Given the description of an element on the screen output the (x, y) to click on. 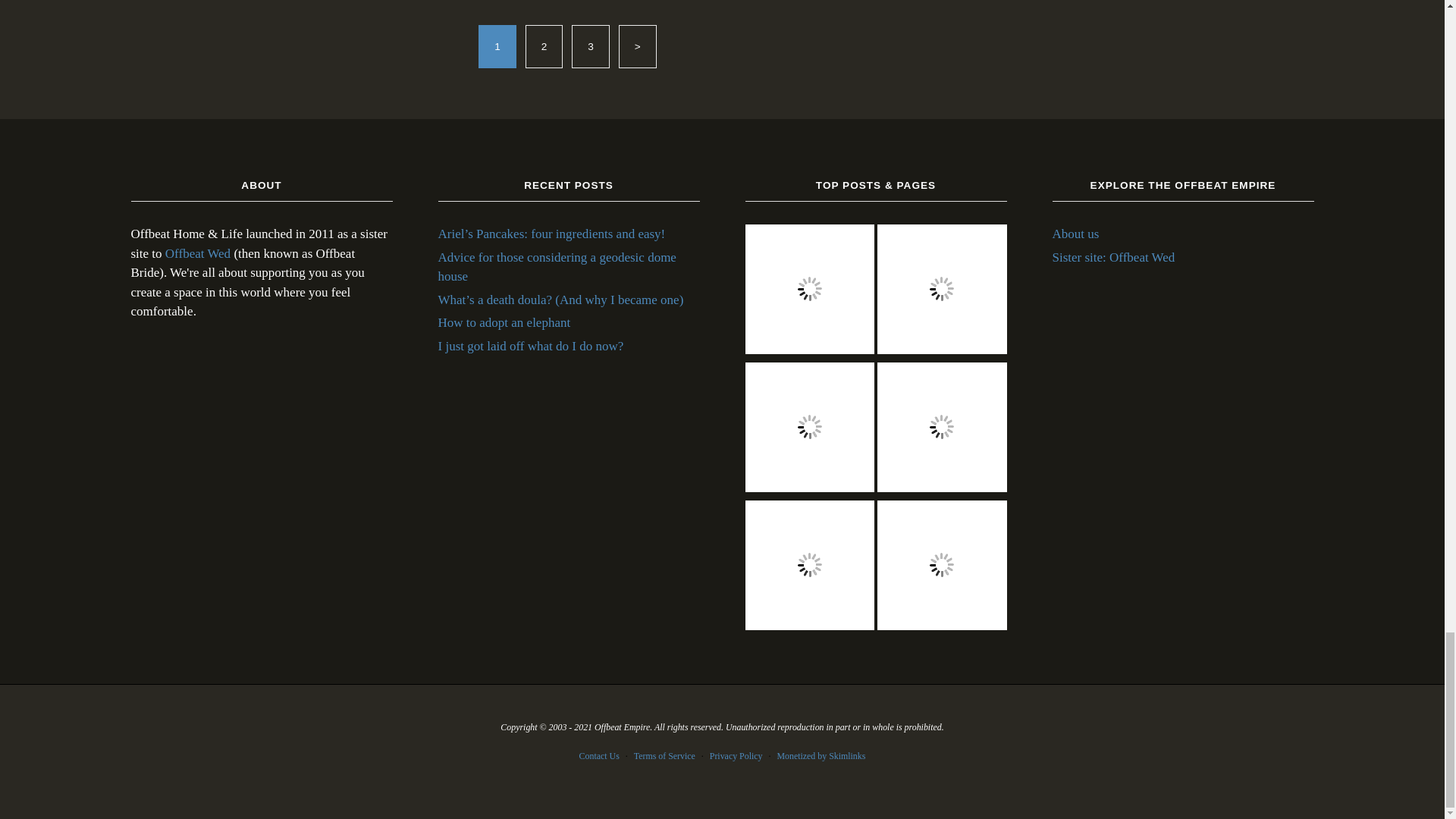
7 ways smoking weed can make you a better parent (942, 429)
How to decorate and de-boring an above-ground pool (809, 291)
DIYing a vertical pumpkin patch in our tiny urban backyard (942, 291)
Family nudity: my sons see me nude at home (809, 429)
The 5-minute hack for making elastic waistbands smaller (809, 567)
7 tips for how to grow gargantuan basil plants (942, 567)
